Given the description of an element on the screen output the (x, y) to click on. 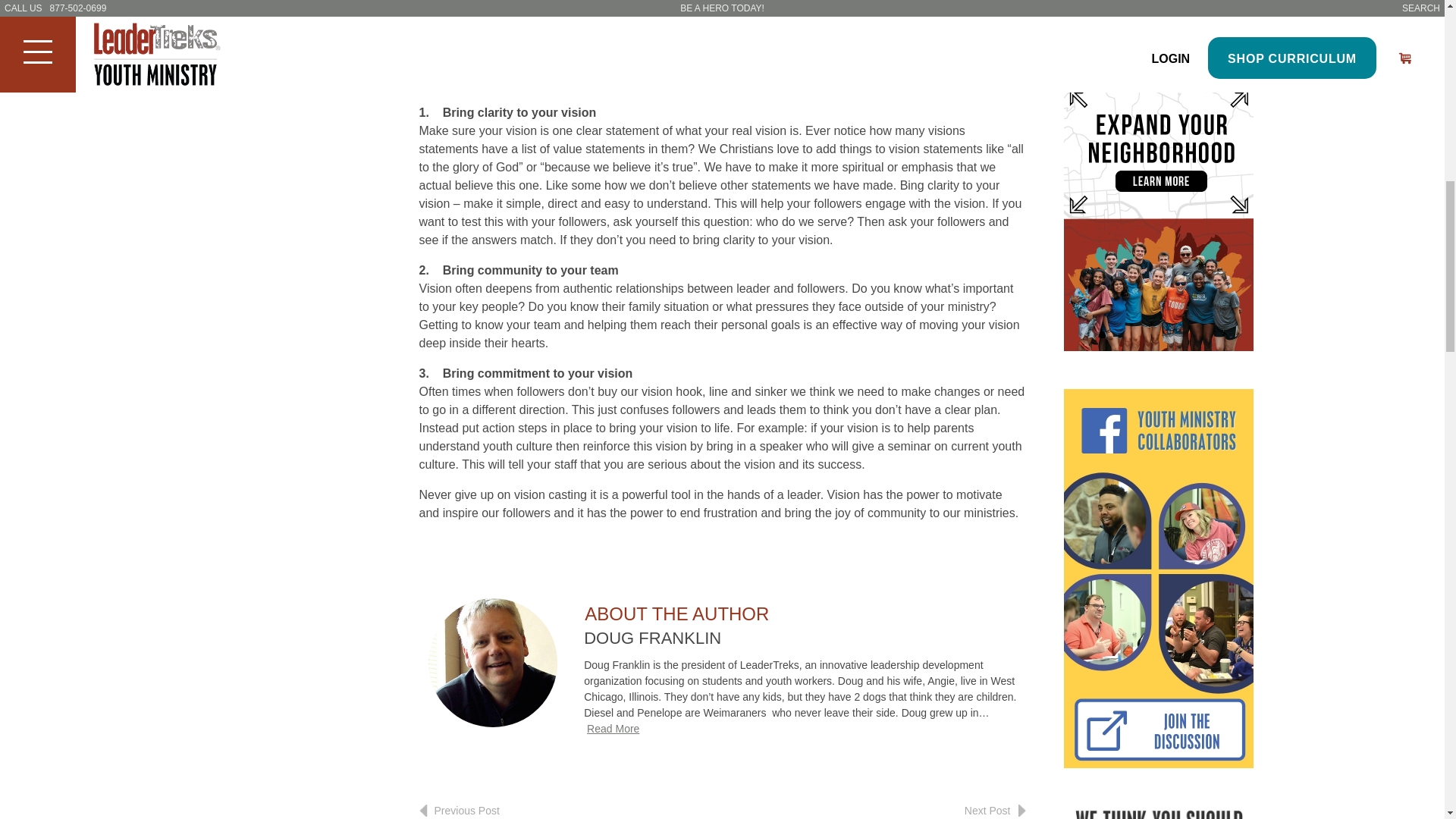
Next Post (994, 810)
Read More (612, 728)
Previous Post (459, 810)
